Given the description of an element on the screen output the (x, y) to click on. 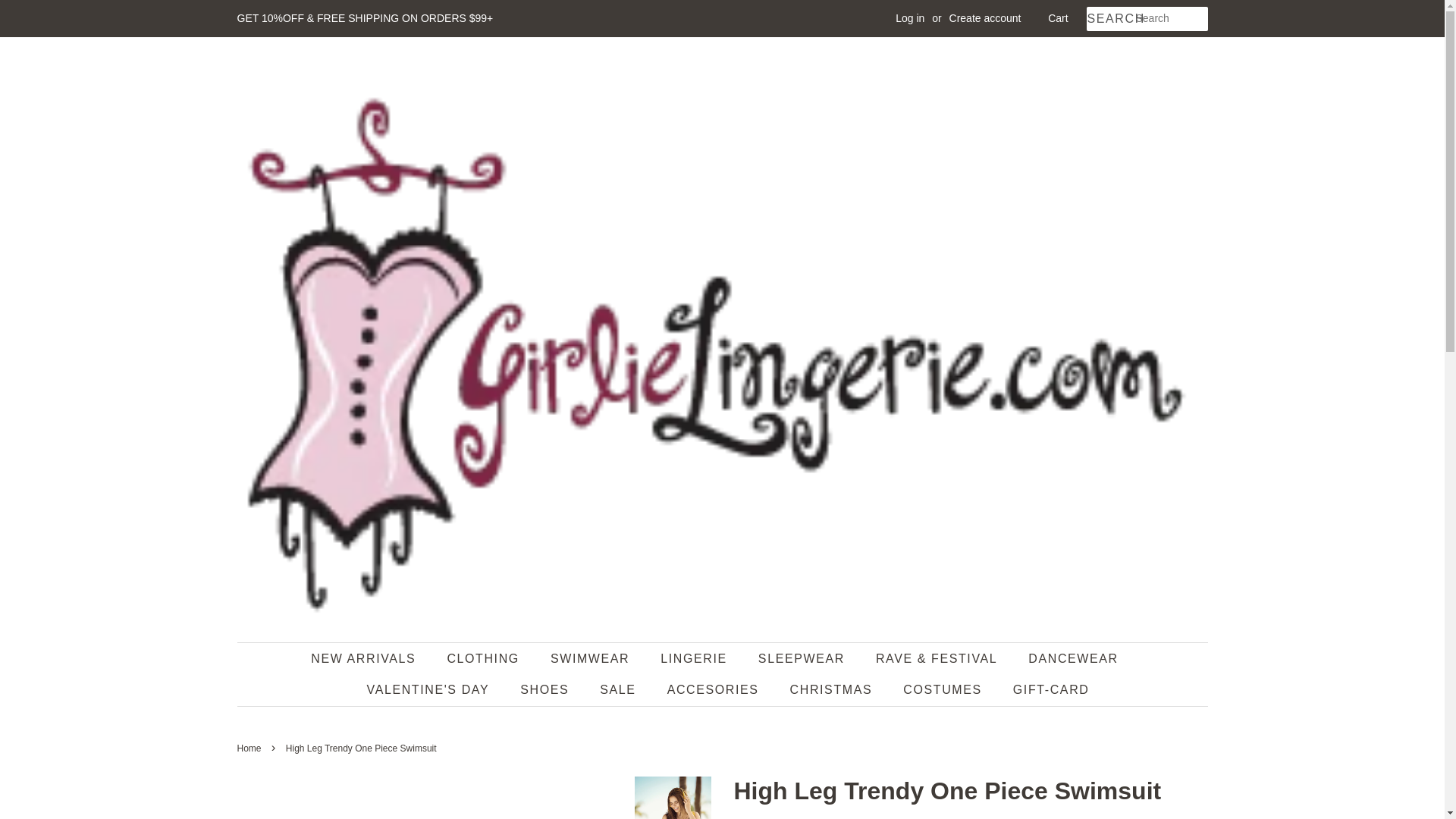
Cart (1057, 18)
Create account (985, 18)
Log in (909, 18)
SEARCH (1110, 18)
Back to the frontpage (249, 747)
